Given the description of an element on the screen output the (x, y) to click on. 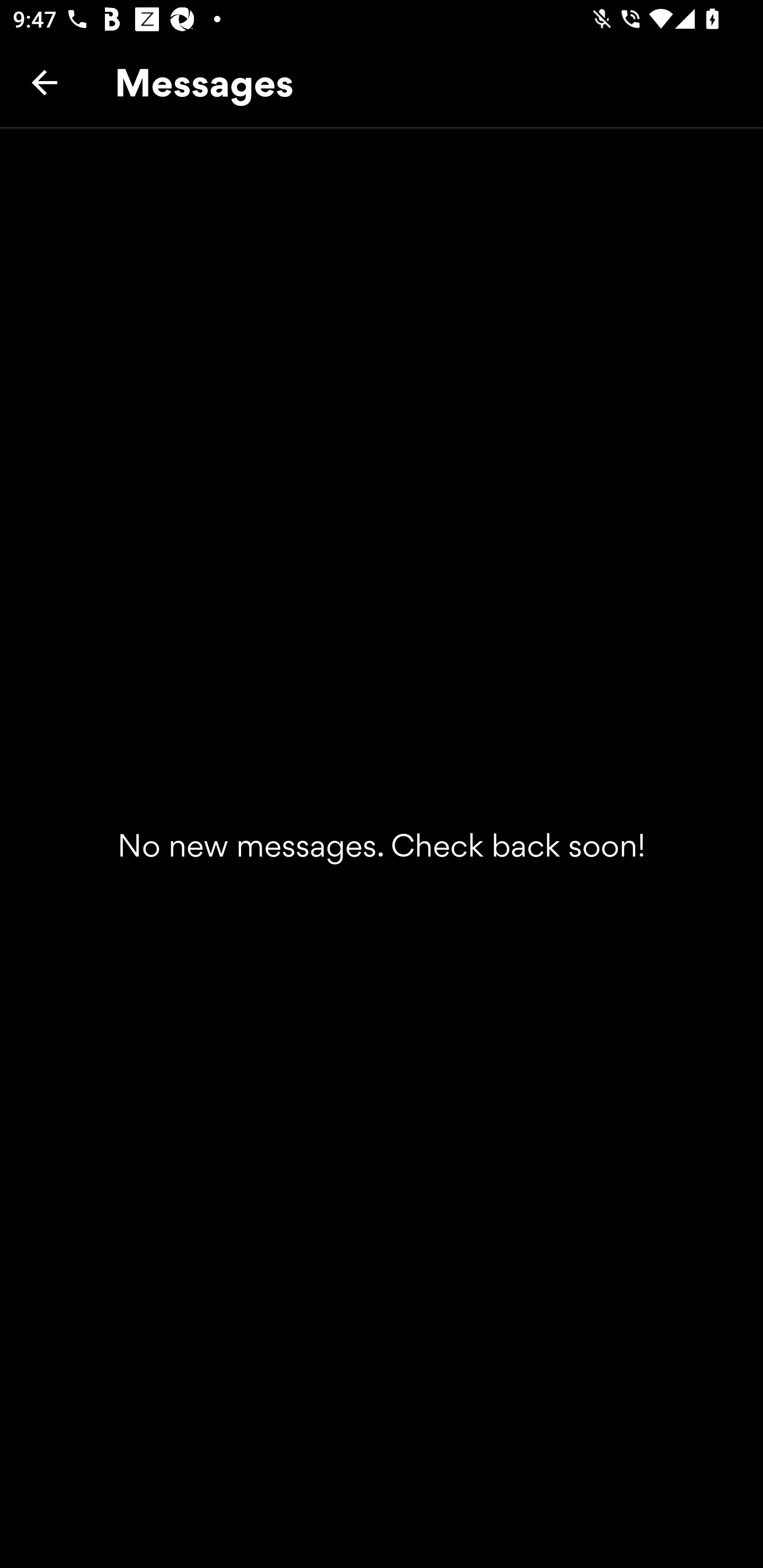
Back (44, 82)
